Given the description of an element on the screen output the (x, y) to click on. 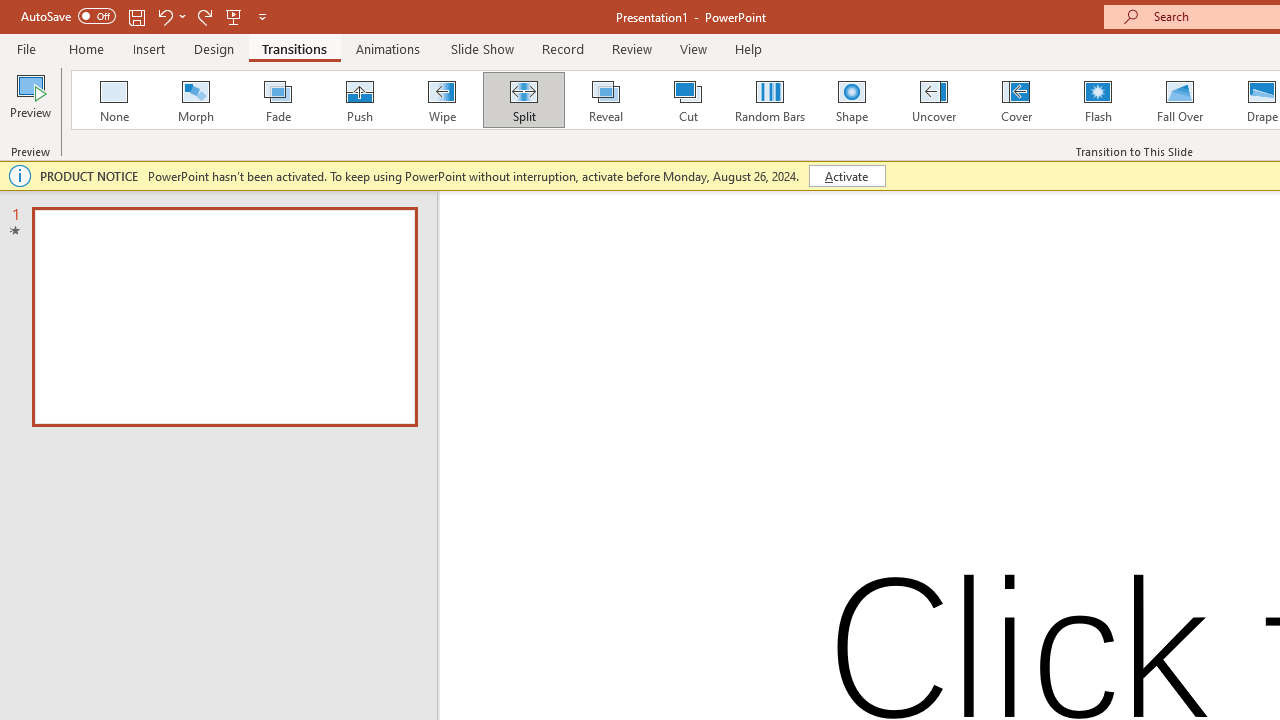
Push (359, 100)
Cut (687, 100)
Activate (846, 175)
Cover (1016, 100)
None (113, 100)
Flash (1098, 100)
Split (523, 100)
